Given the description of an element on the screen output the (x, y) to click on. 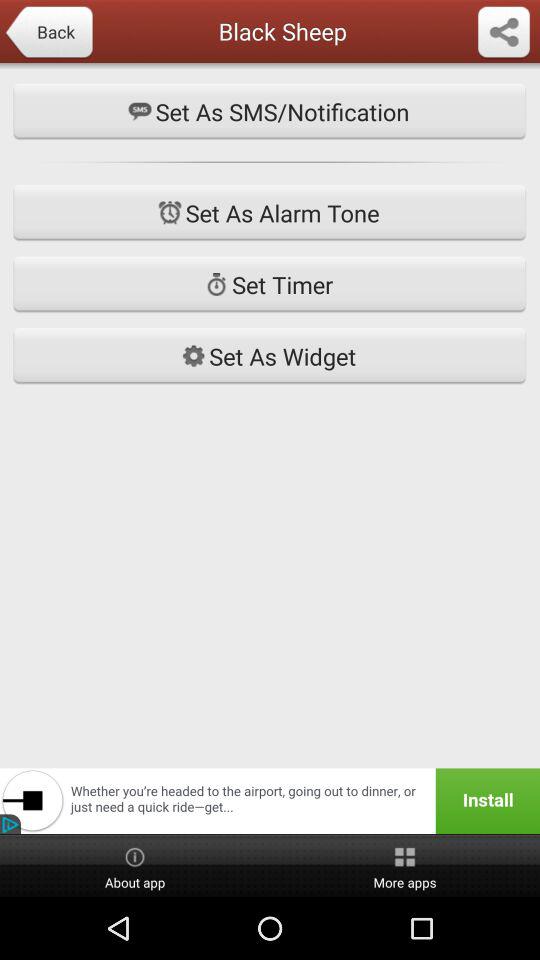
unstall (270, 801)
